Given the description of an element on the screen output the (x, y) to click on. 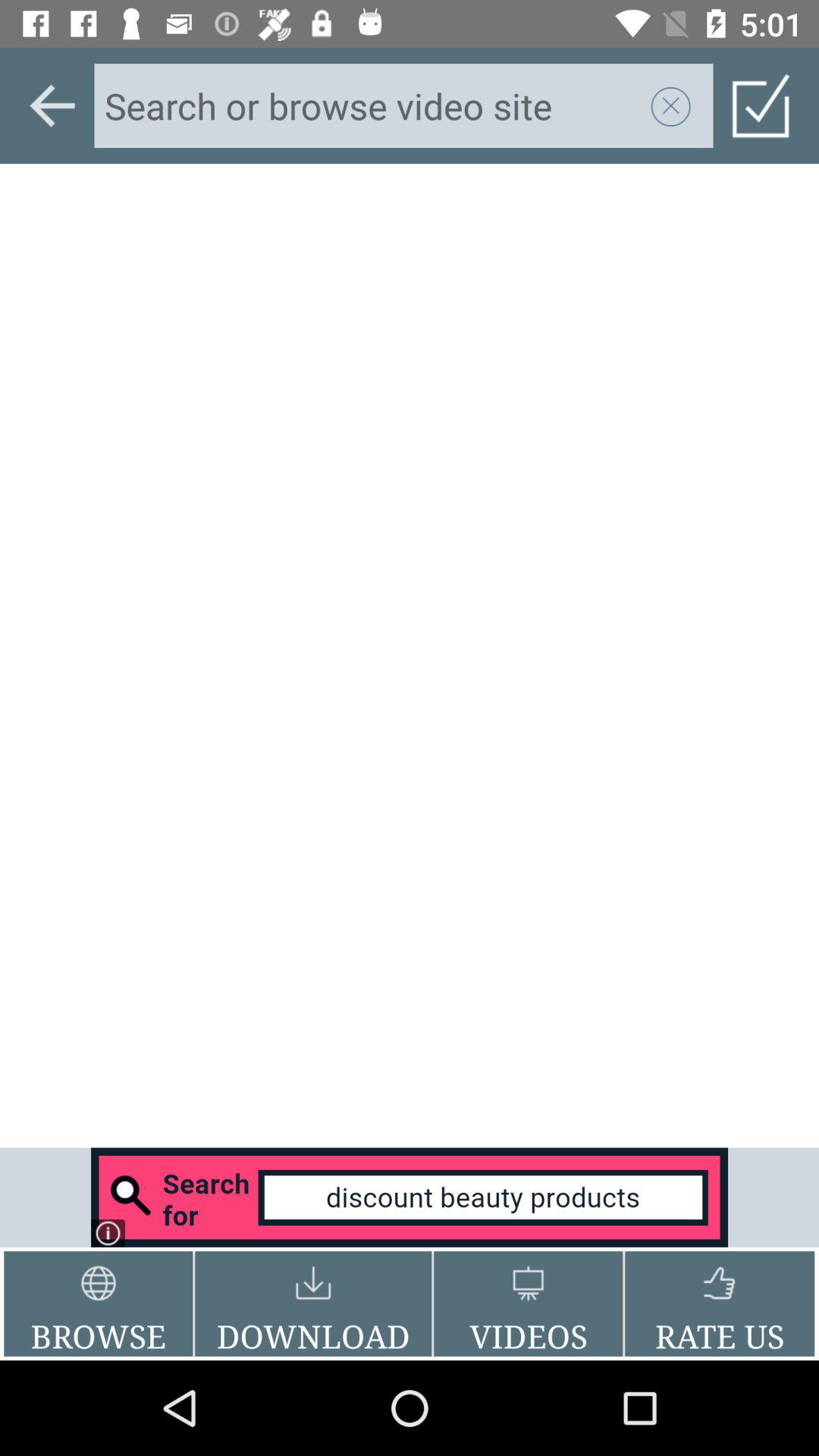
input search query (371, 105)
